Given the description of an element on the screen output the (x, y) to click on. 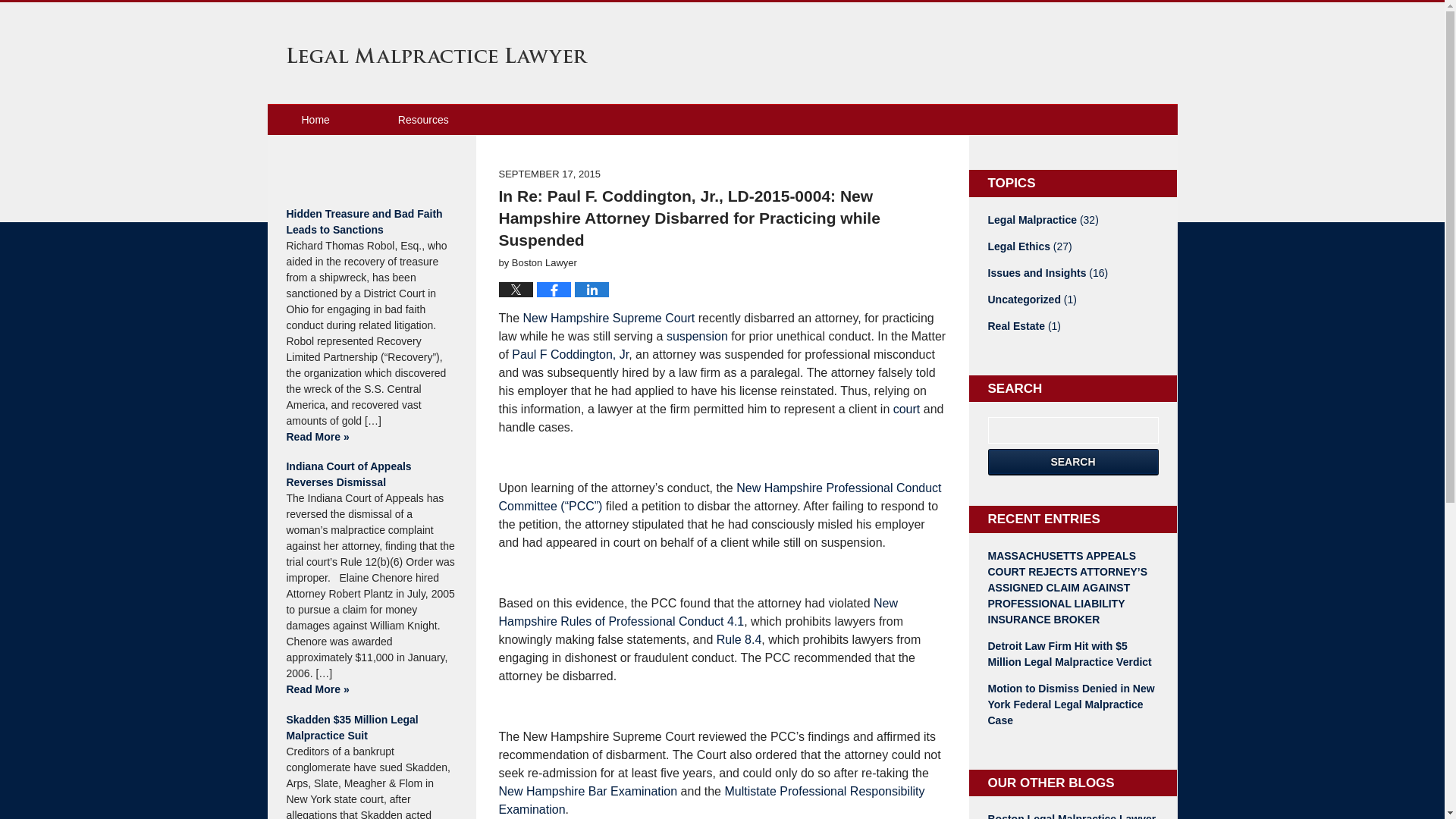
Paul F Coddington, Jr (570, 354)
New Hampshire Rules of Professional Conduct 4.1 (698, 612)
Resources (423, 119)
Hidden Treasure and Bad Faith Leads to Sanctions (371, 222)
suspension (697, 336)
Legal Malpractice Lawyer (437, 55)
New Hampshire Bar Examination (588, 790)
New Hampshire Supreme Court (608, 318)
Indiana Court of Appeals Reverses Dismissal (371, 474)
Rule 8.4 (738, 639)
